Given the description of an element on the screen output the (x, y) to click on. 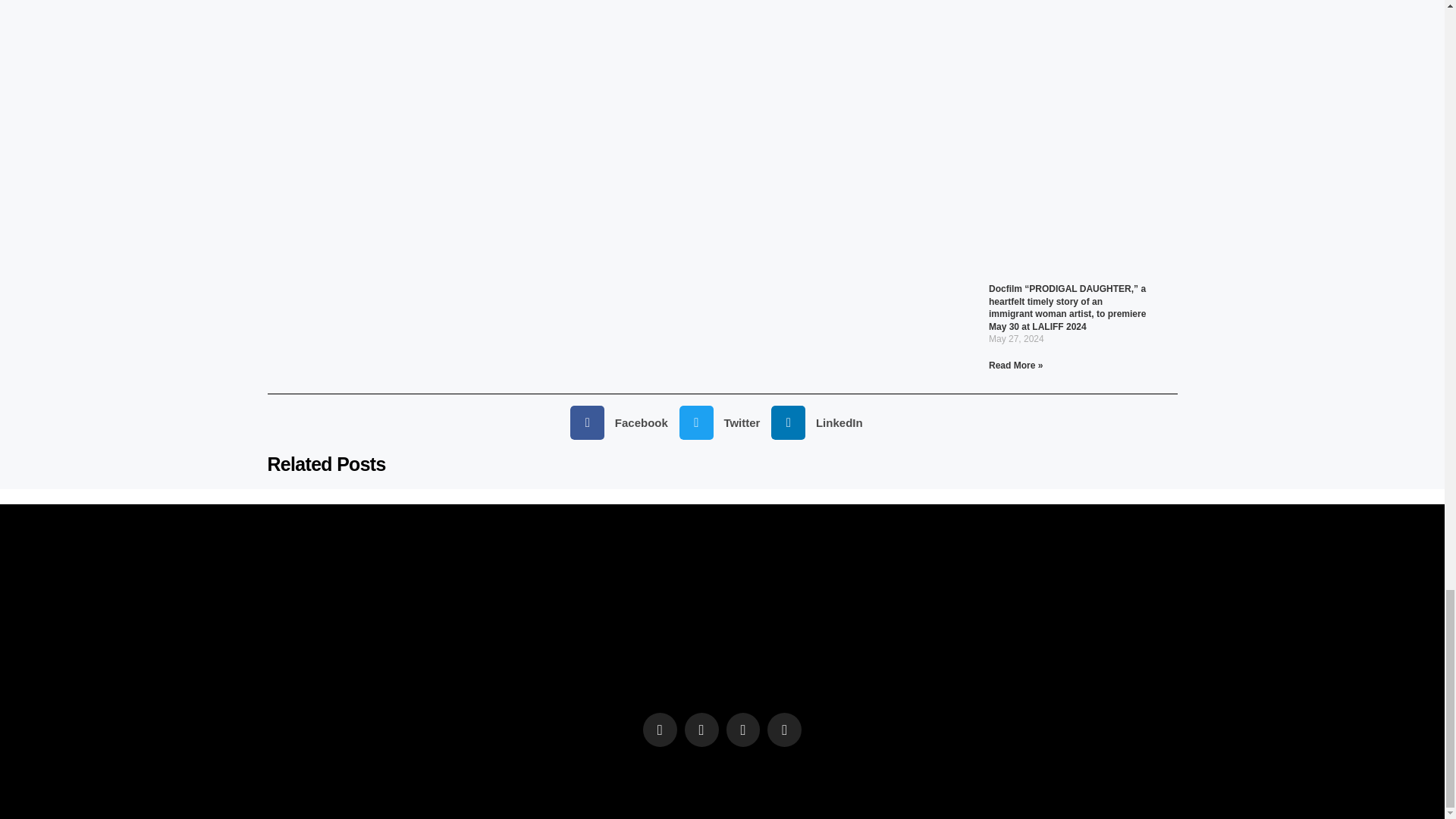
hf words (721, 635)
